Given the description of an element on the screen output the (x, y) to click on. 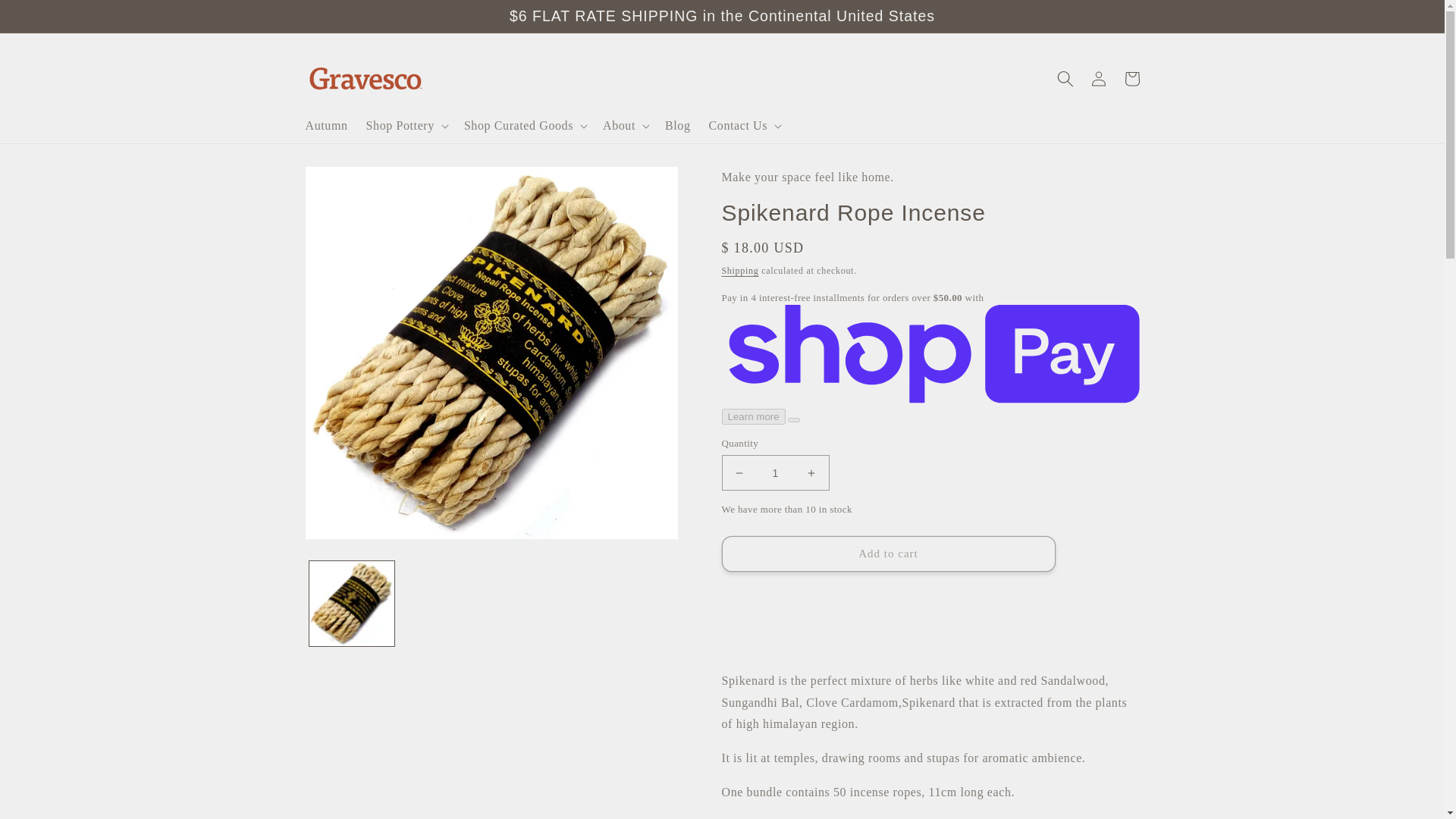
1 (775, 472)
Skip to content (45, 17)
